Given the description of an element on the screen output the (x, y) to click on. 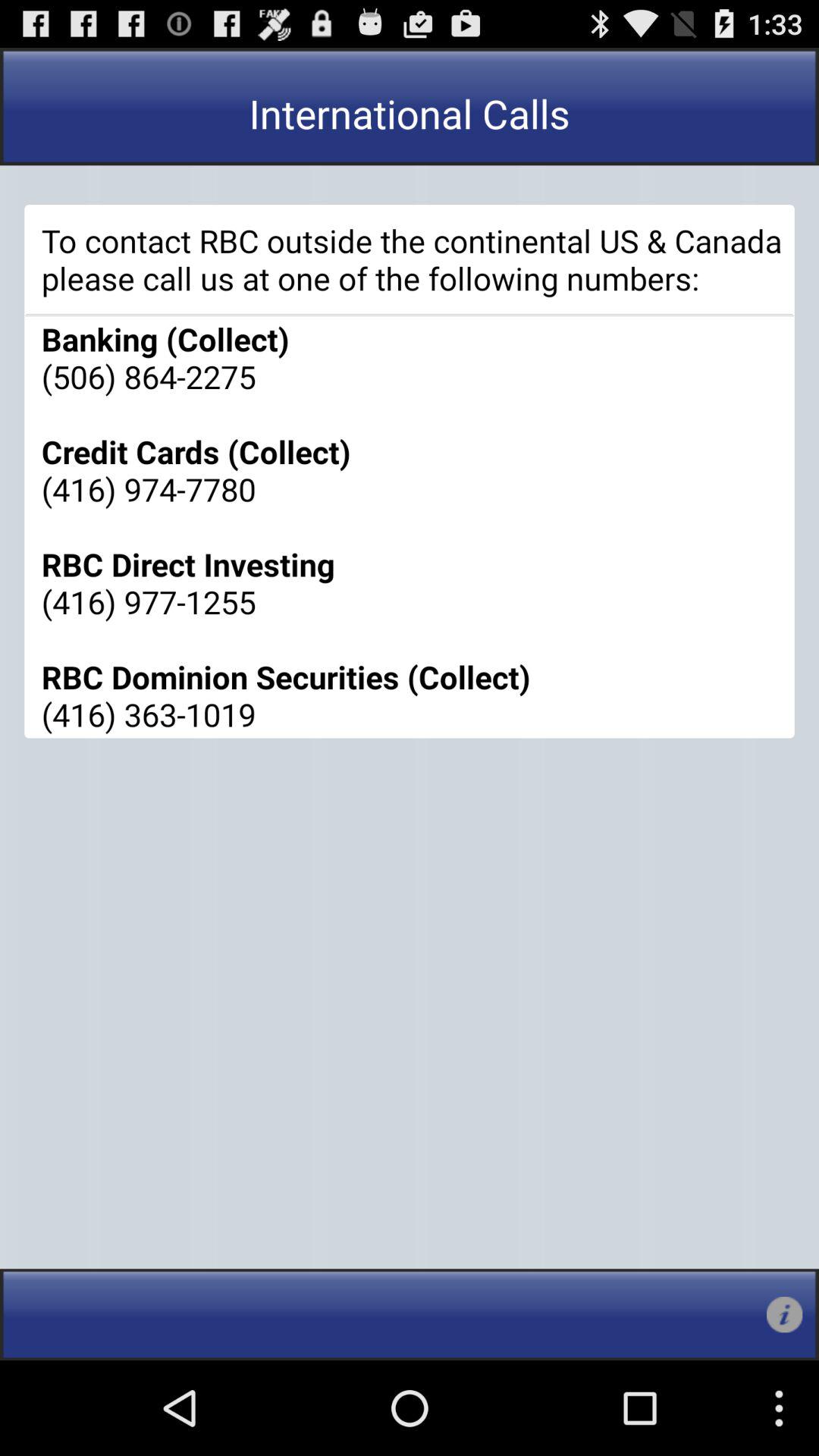
turn off the item below the banking collect 506 item (784, 1314)
